Given the description of an element on the screen output the (x, y) to click on. 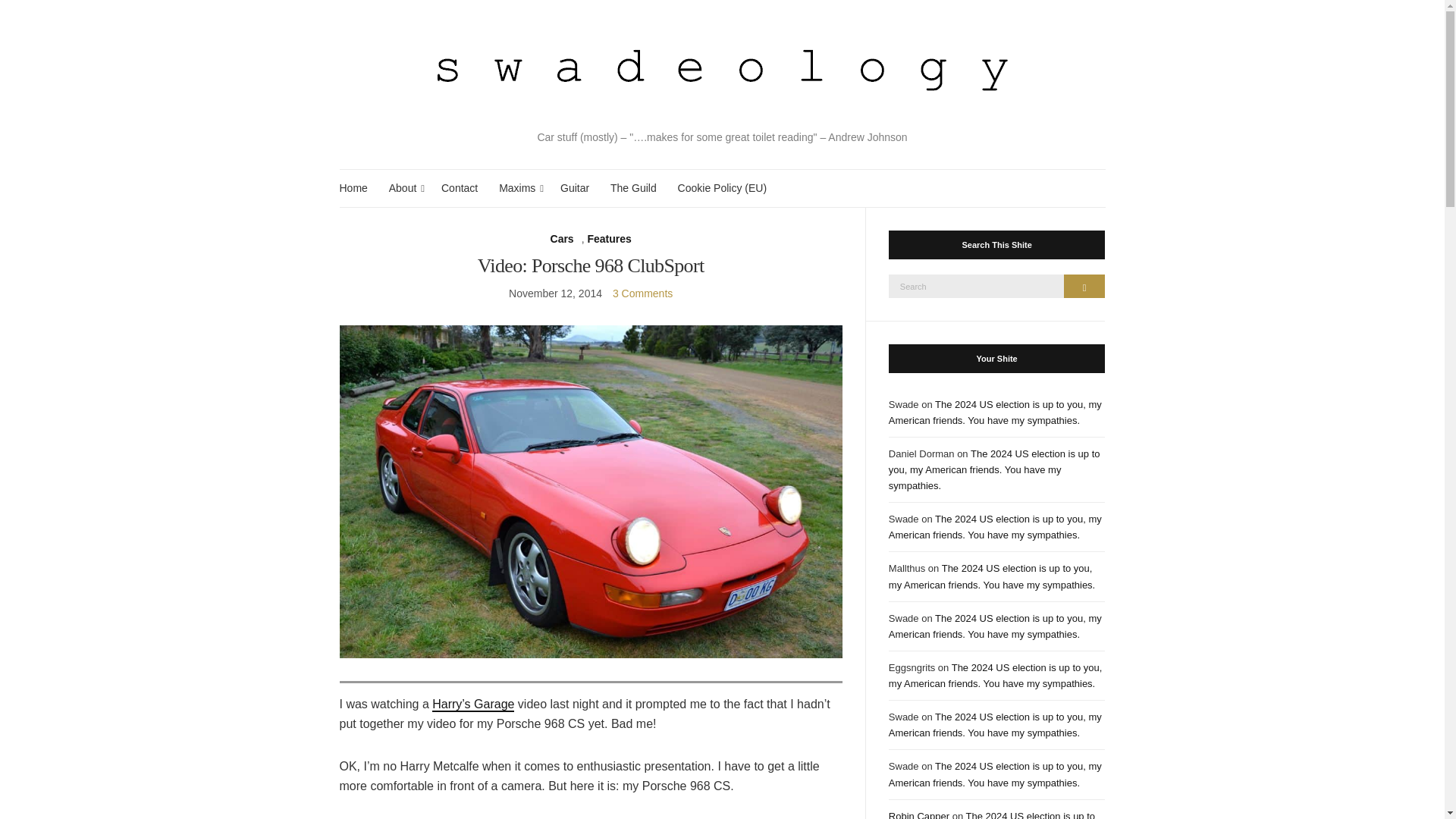
3 Comments (642, 293)
Contact (459, 188)
The Guild (633, 188)
Features (608, 239)
Guitar (574, 188)
Home (353, 188)
About (404, 188)
Harry's Garage (472, 704)
Cars (561, 239)
Maxims (518, 188)
